Given the description of an element on the screen output the (x, y) to click on. 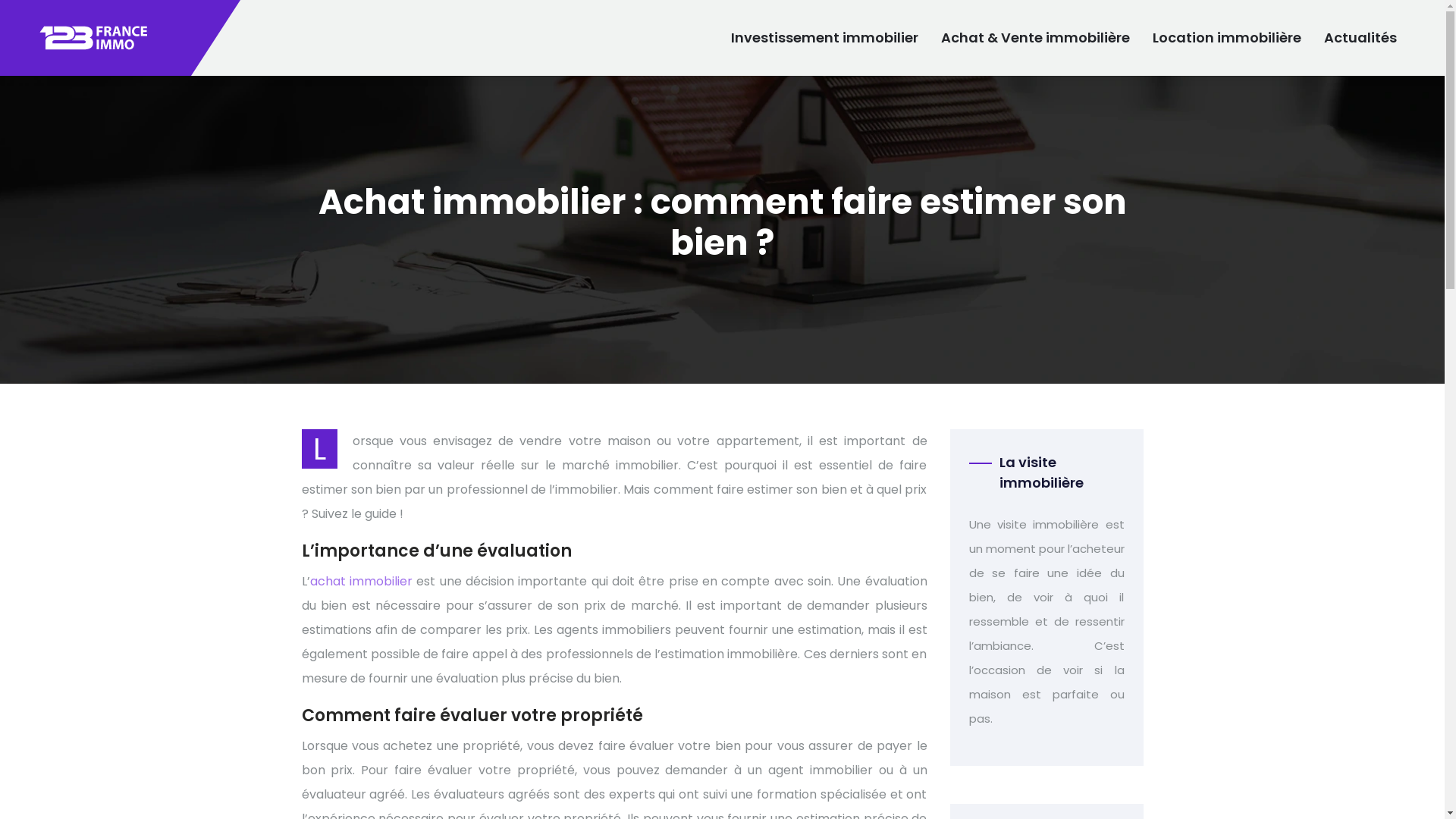
Investissement immobilier Element type: text (824, 37)
achat immobilier Element type: text (360, 580)
